Given the description of an element on the screen output the (x, y) to click on. 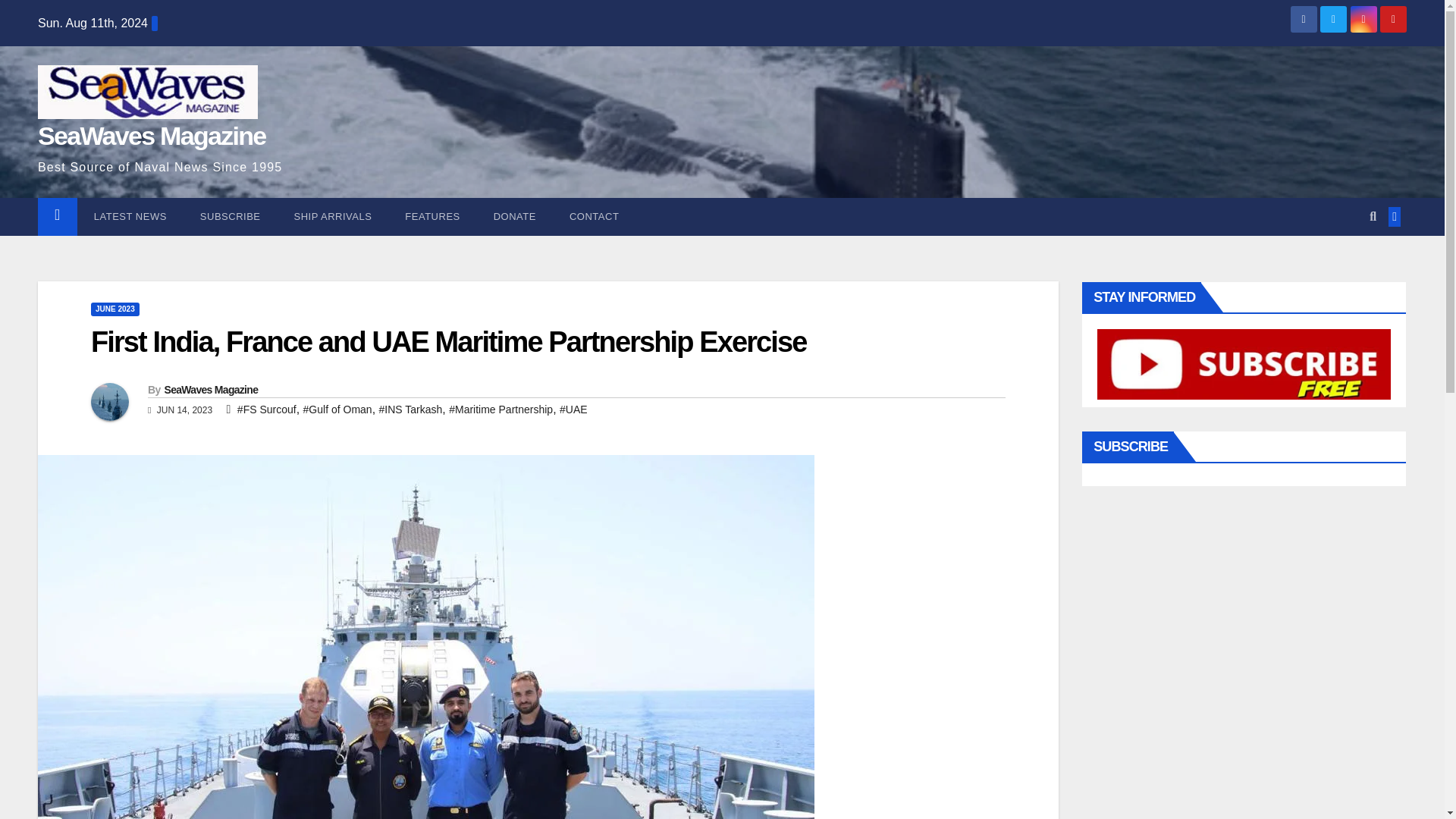
Subscribe (230, 216)
SeaWaves Magazine (151, 135)
Latest News (130, 216)
FEATURES (432, 216)
SHIP ARRIVALS (333, 216)
Ship Arrivals (333, 216)
SUBSCRIBE (230, 216)
Features (432, 216)
LATEST NEWS (130, 216)
